Given the description of an element on the screen output the (x, y) to click on. 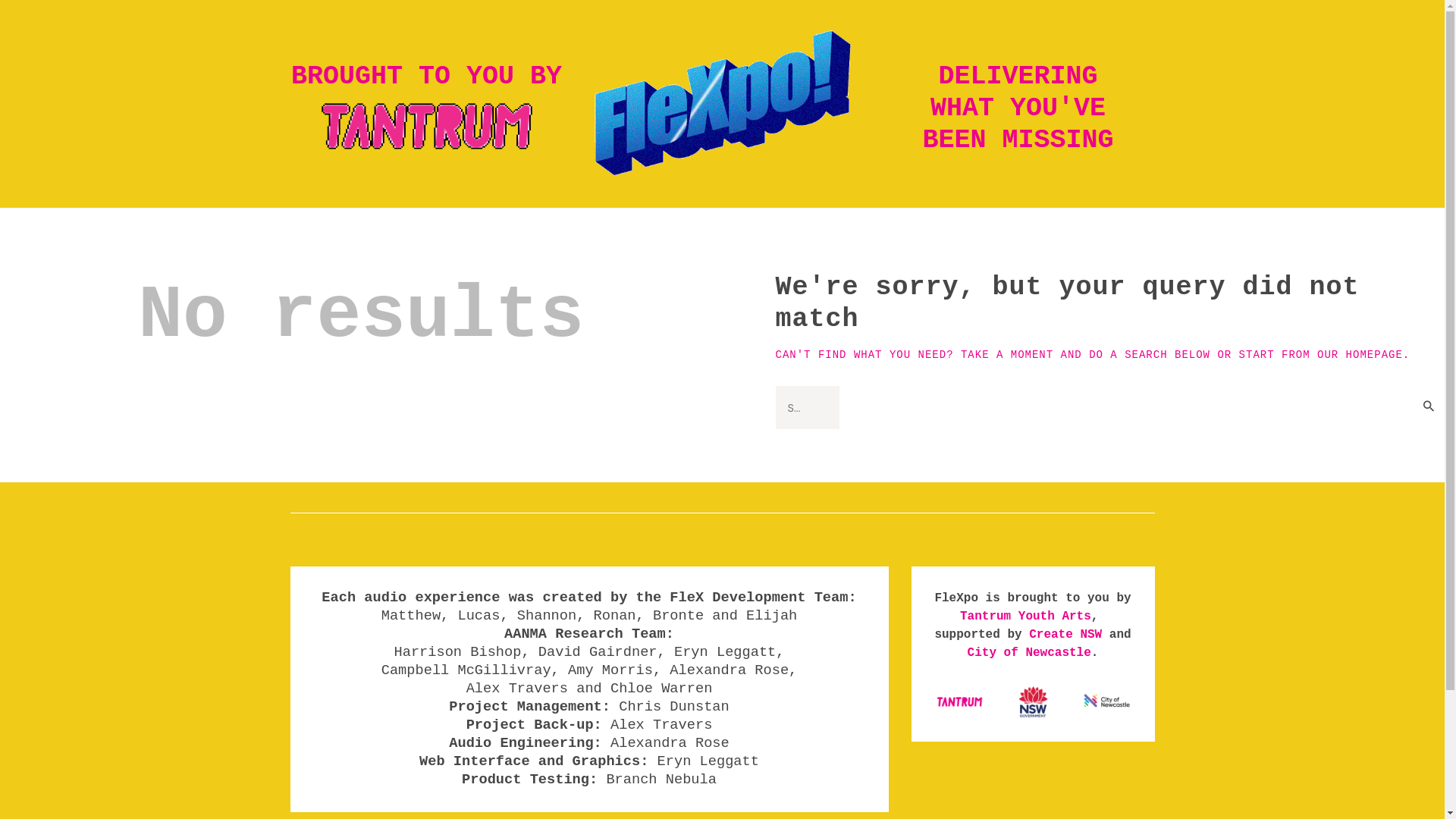
FleXpo-Animated Element type: hover (721, 103)
City of Newcastle Element type: text (1029, 652)
NSW-Government Element type: hover (1032, 701)
Tantrum Element type: hover (959, 701)
City-of-Newcastle Element type: hover (1106, 701)
Tantrum-Pixelated Element type: hover (425, 126)
OUR HOMEPAGE Element type: text (1359, 354)
Create NSW Element type: text (1065, 634)
Tantrum Youth Arts Element type: text (1025, 616)
